Given the description of an element on the screen output the (x, y) to click on. 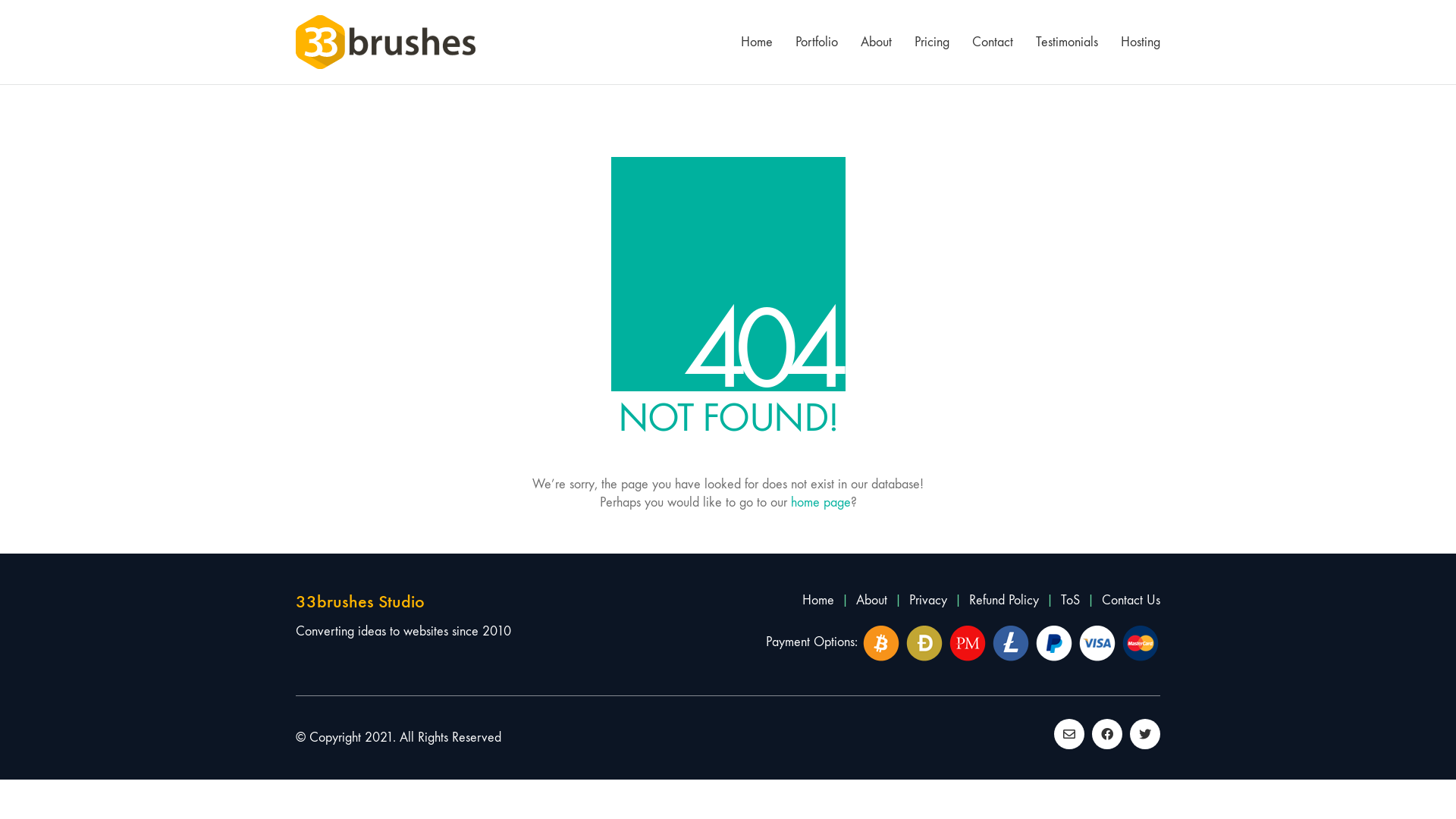
Refund Policy Element type: text (1003, 600)
ToS Element type: text (1069, 600)
Twitter Element type: hover (1144, 733)
Facebook Element type: hover (1107, 733)
Portfolio Element type: text (816, 42)
Pricing Element type: text (931, 42)
Contact Us Element type: text (1130, 600)
home page Element type: text (820, 502)
Contact Element type: text (992, 42)
Hosting Element type: text (1140, 42)
Home Element type: text (756, 42)
Privacy Element type: text (928, 600)
Testimonials Element type: text (1066, 42)
About Element type: text (871, 600)
About Element type: text (875, 42)
Home Element type: text (818, 600)
Email Element type: hover (1069, 733)
